Given the description of an element on the screen output the (x, y) to click on. 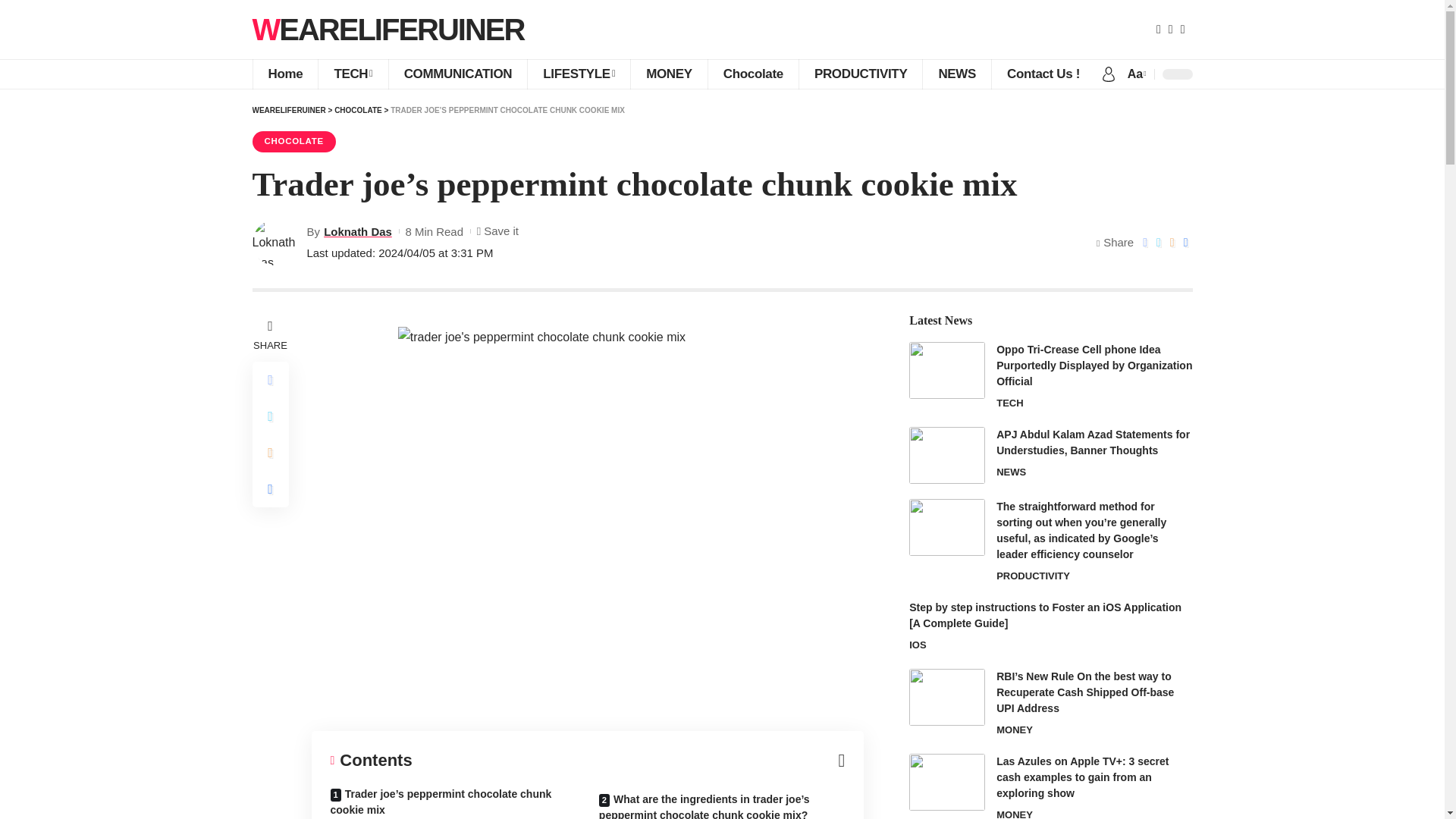
PRODUCTIVITY (859, 73)
Aa (1135, 73)
Home (284, 73)
NEWS (956, 73)
Contact Us ! (1042, 73)
weareliferuiner (387, 29)
TECH (352, 73)
Chocolate (752, 73)
MONEY (668, 73)
